Given the description of an element on the screen output the (x, y) to click on. 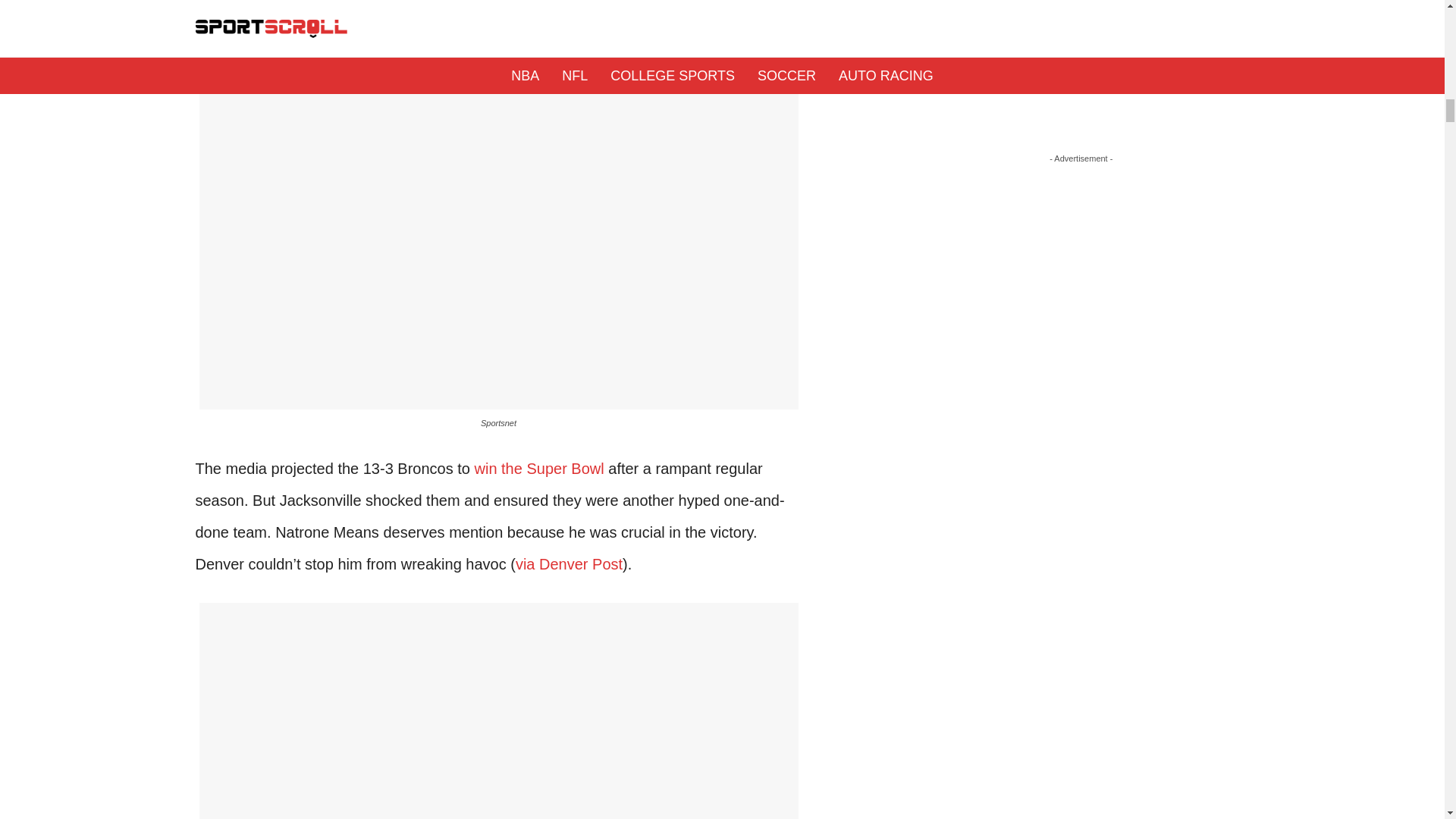
win the Super Bowl (539, 468)
via Denver Post (569, 564)
